Given the description of an element on the screen output the (x, y) to click on. 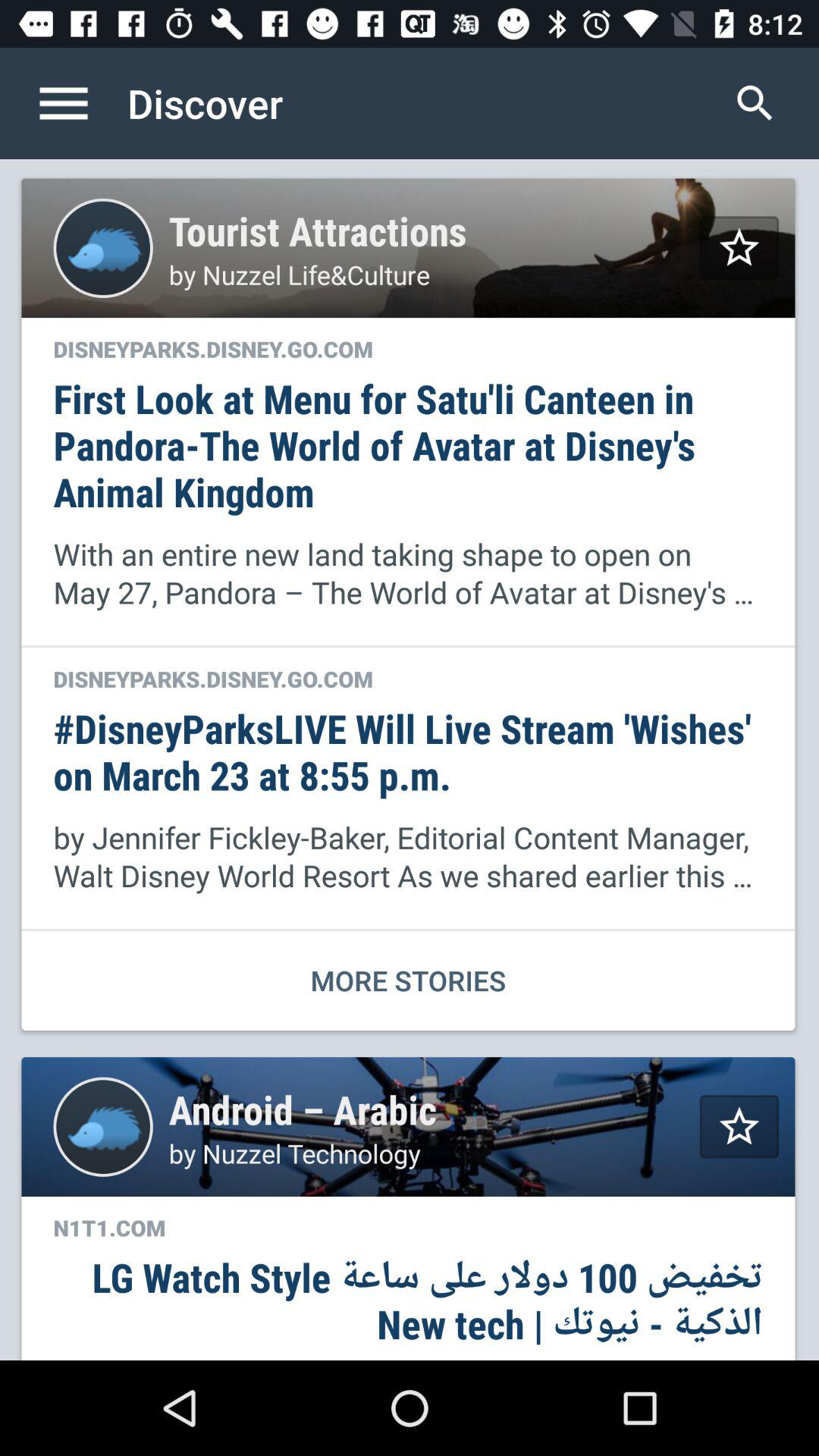
launch item to the right of discover item (755, 103)
